Given the description of an element on the screen output the (x, y) to click on. 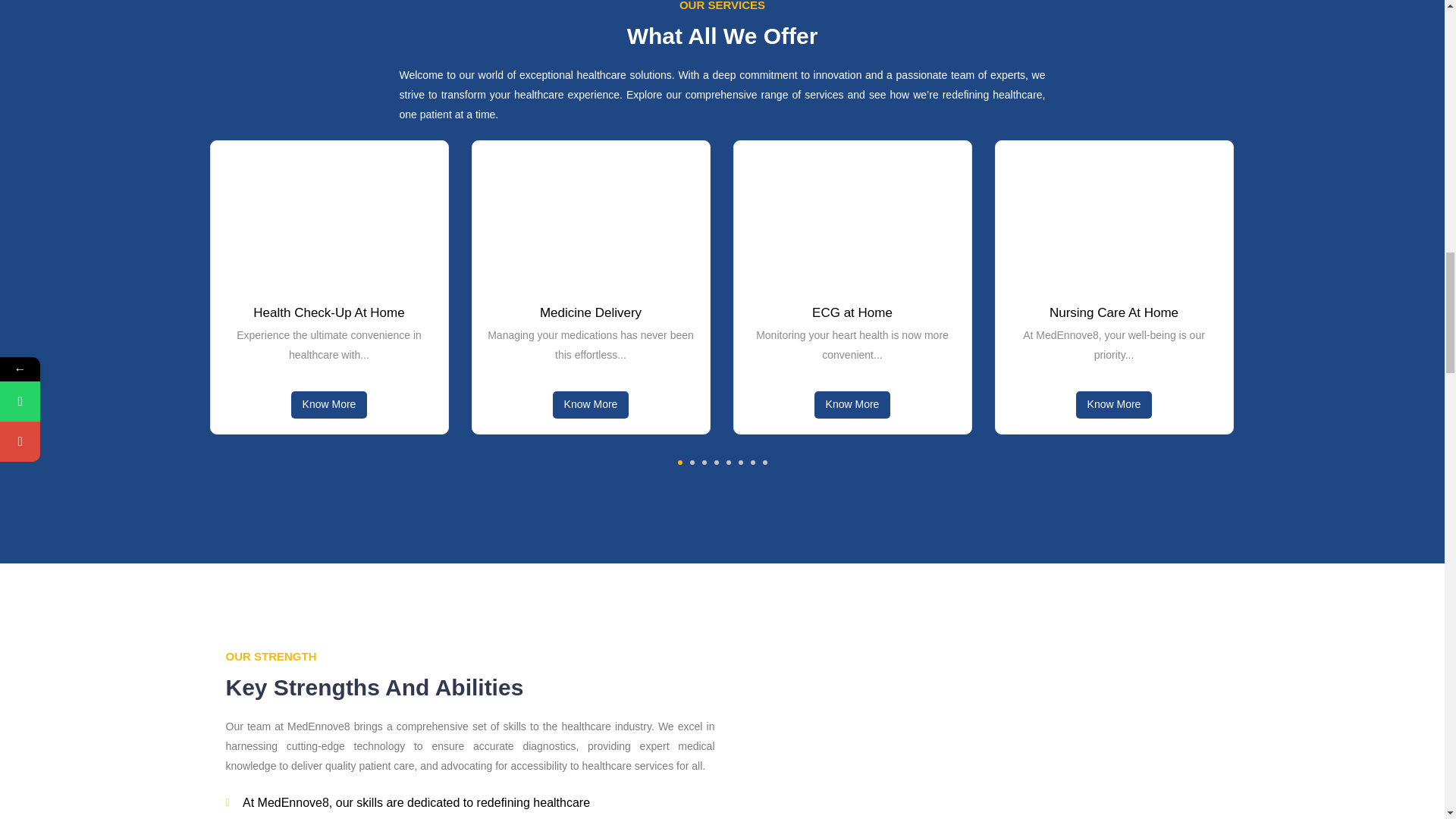
Know More (590, 218)
Know More (852, 404)
Know More (328, 218)
Know More (851, 218)
Know More (1113, 218)
Know More (329, 404)
Know More (590, 404)
